Given the description of an element on the screen output the (x, y) to click on. 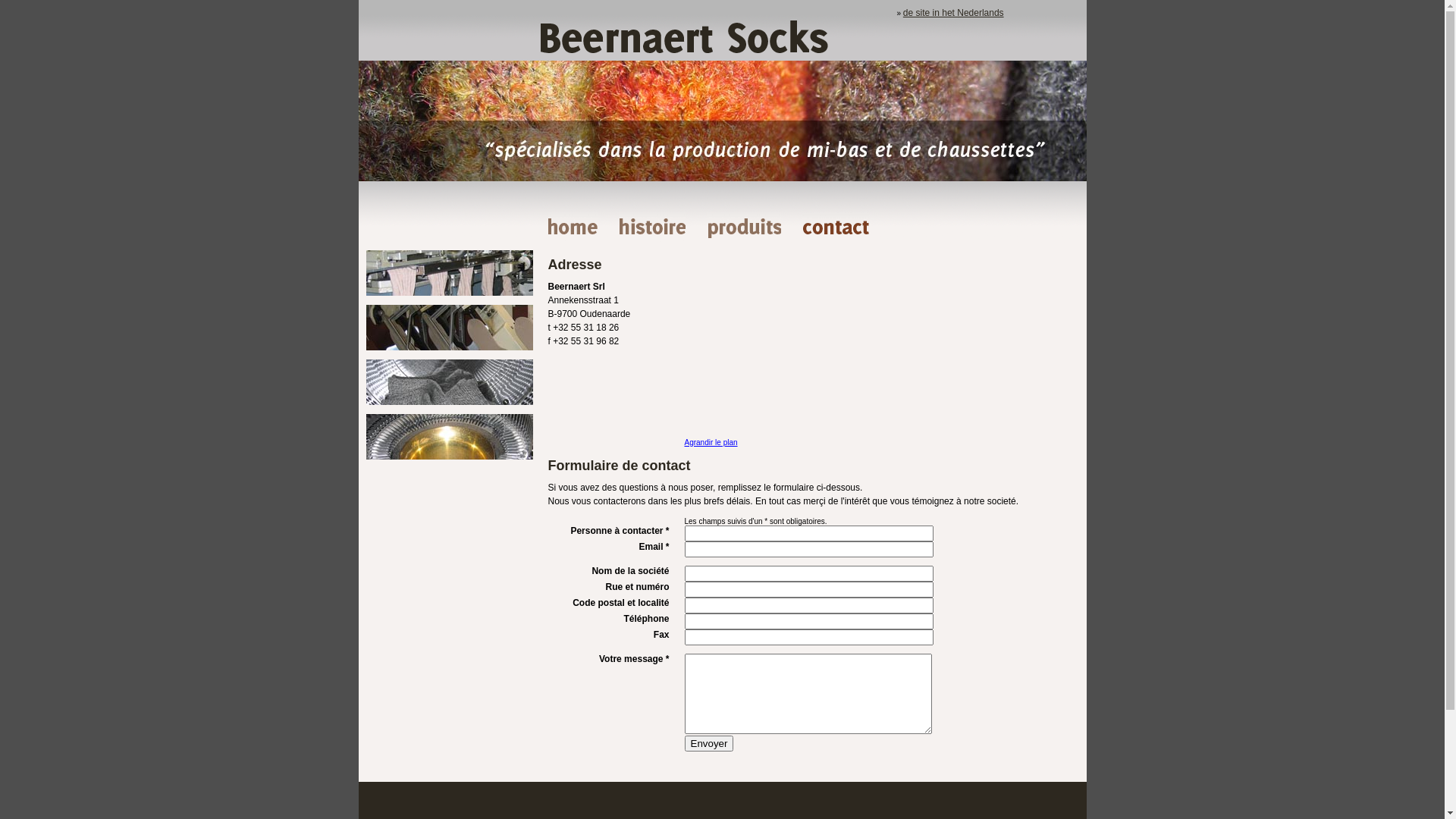
Envoyer Element type: text (708, 743)
Agrandir le plan Element type: text (710, 442)
de site in het Nederlands Element type: text (953, 12)
